Given the description of an element on the screen output the (x, y) to click on. 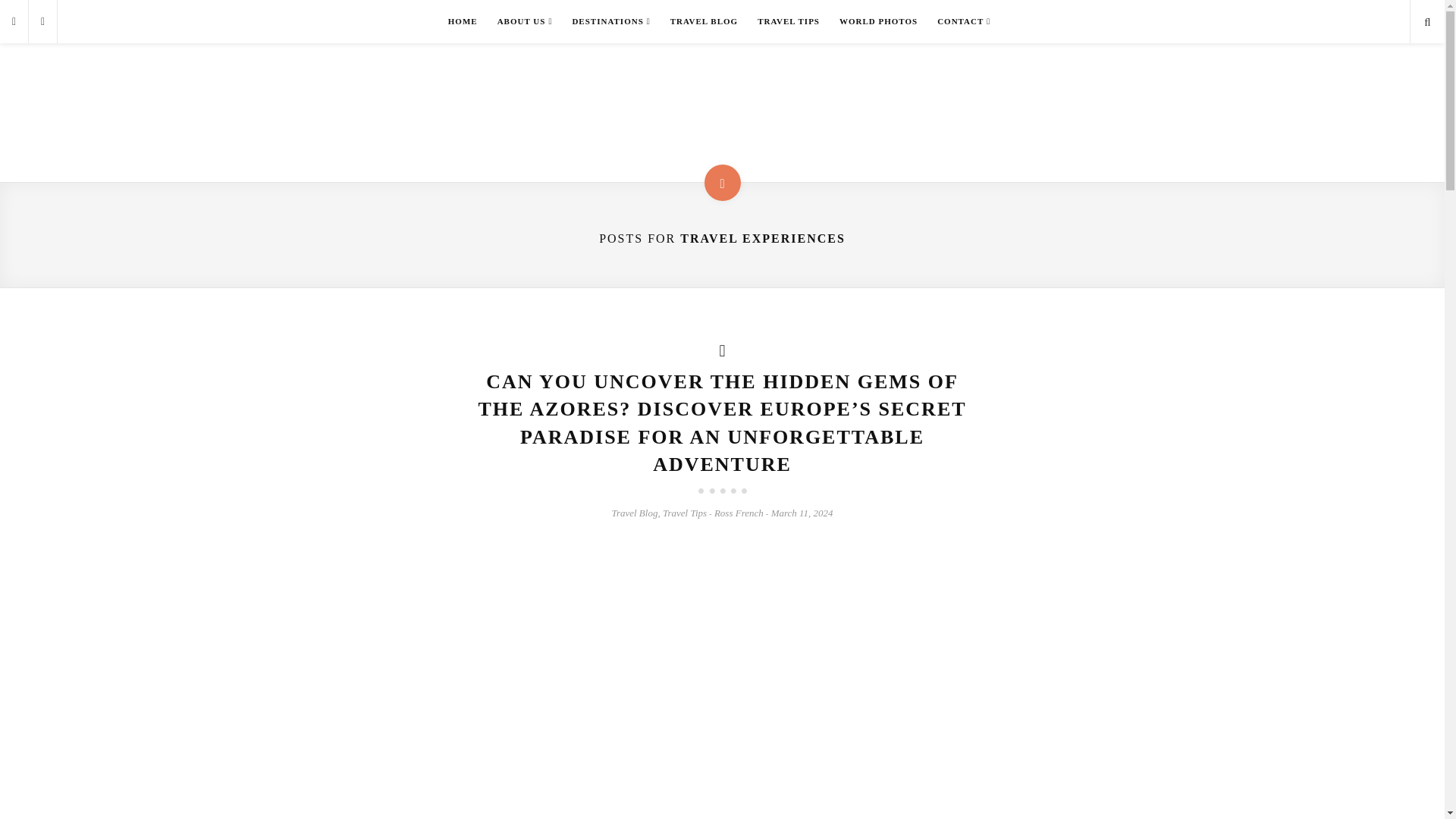
HOME (462, 21)
Travel Blog (634, 512)
TRAVEL BLOG (704, 21)
Travel Tips (684, 512)
CONTACT (963, 21)
WORLD PHOTOS (878, 21)
ABOUT US (524, 21)
DESTINATIONS (610, 21)
TRAVEL TIPS (788, 21)
